Given the description of an element on the screen output the (x, y) to click on. 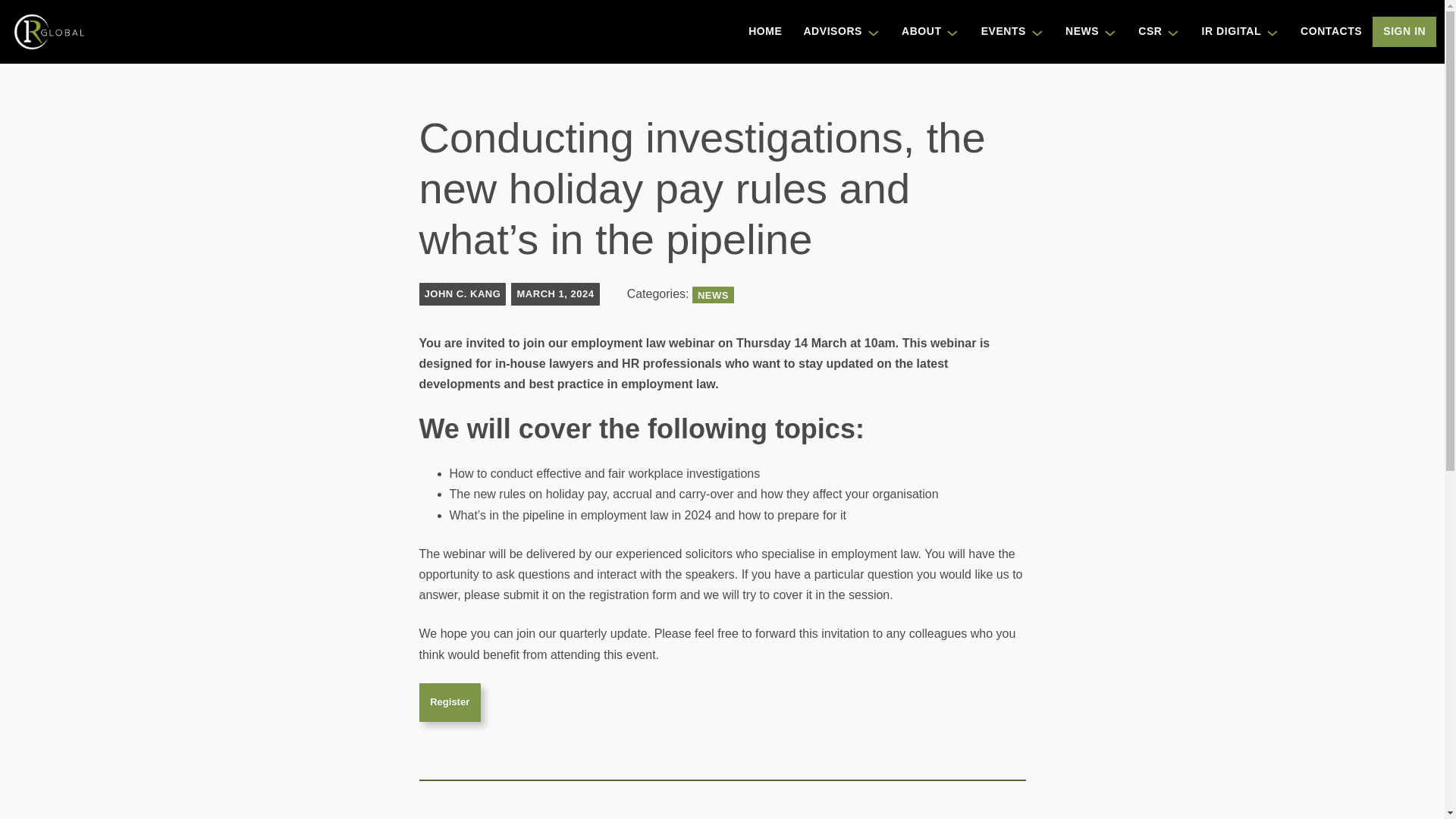
EVENTS (998, 31)
NEWS (1076, 31)
ADVISORS (826, 31)
ABOUT (916, 31)
CSR (1143, 31)
IR DIGITAL (1225, 31)
HOME (765, 31)
